Given the description of an element on the screen output the (x, y) to click on. 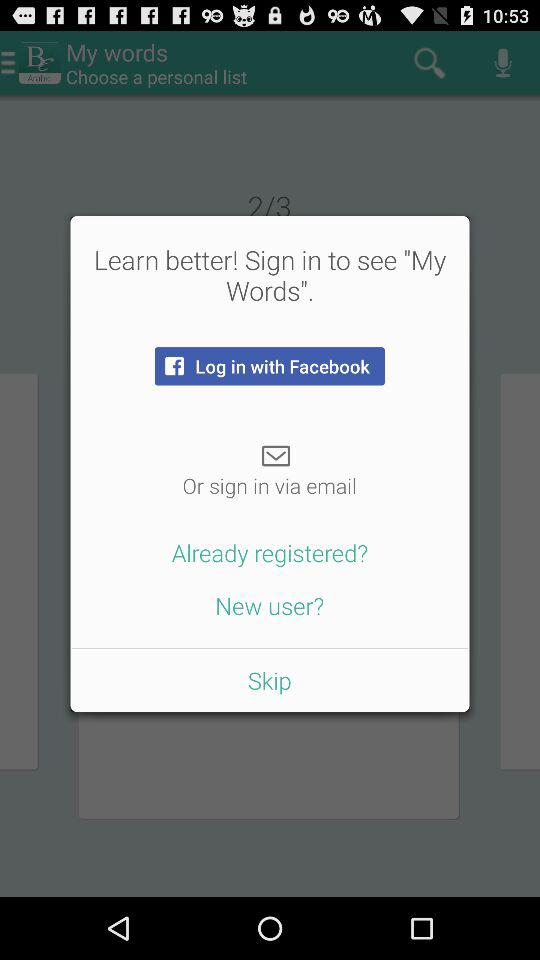
open icon below already registered? item (269, 605)
